Given the description of an element on the screen output the (x, y) to click on. 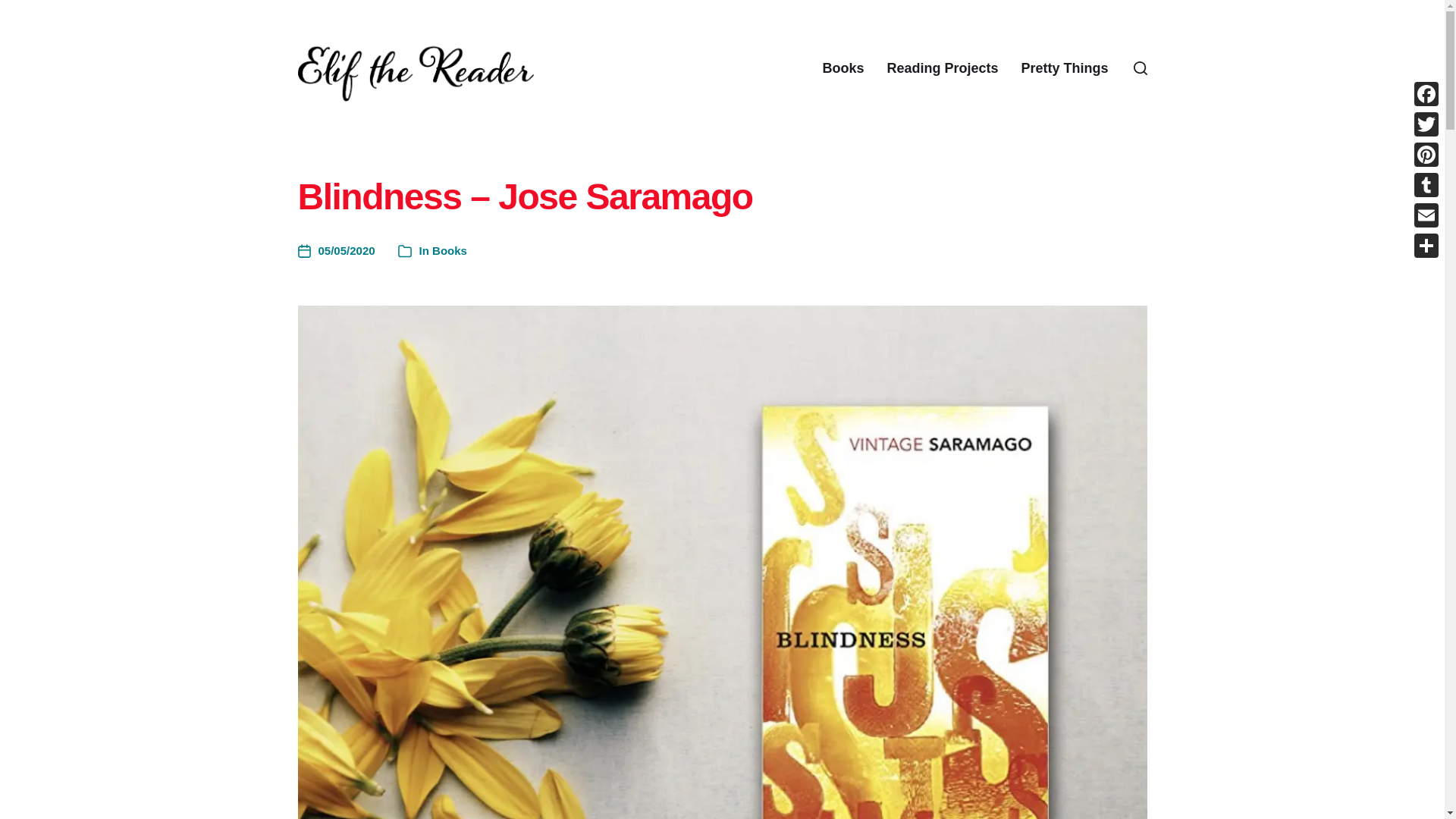
Pretty Things (1064, 68)
Reading Projects (941, 68)
Twitter (1425, 123)
Facebook (1425, 93)
Facebook (1425, 93)
Books (842, 68)
Books (449, 250)
